Given the description of an element on the screen output the (x, y) to click on. 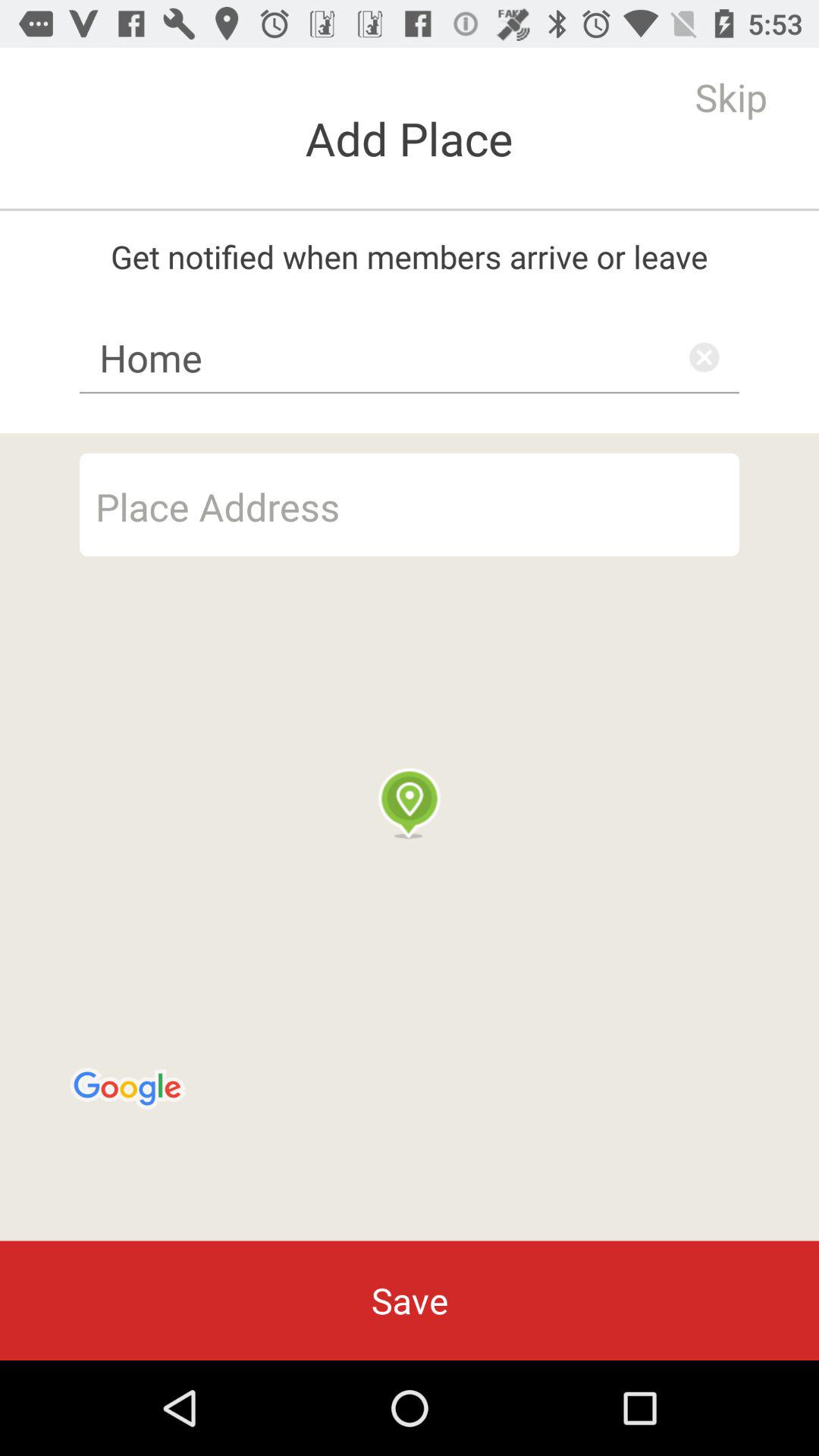
press the skip at the top right corner (731, 97)
